Given the description of an element on the screen output the (x, y) to click on. 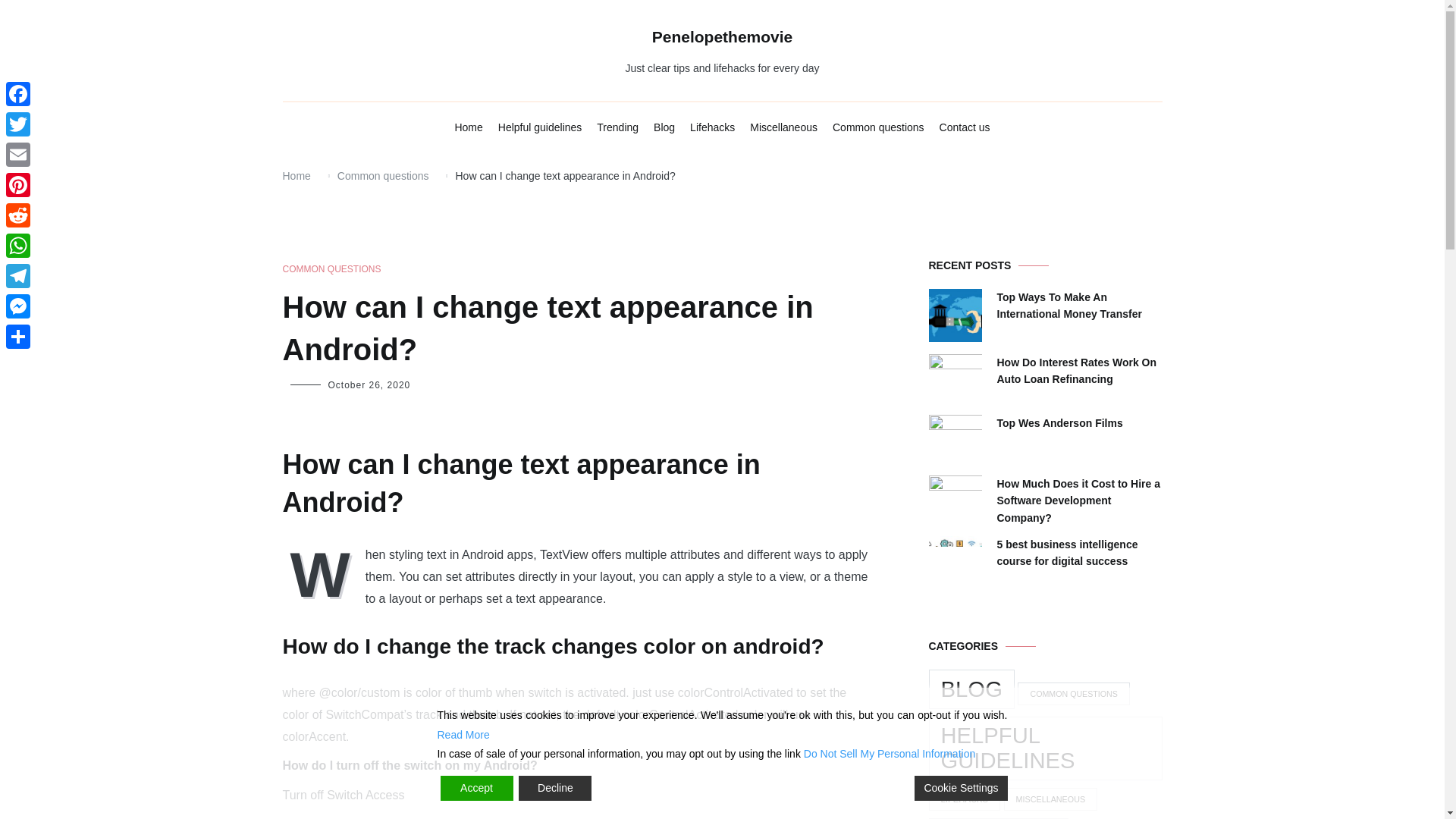
Lifehacks (712, 127)
Facebook (17, 93)
Penelopethemovie (722, 36)
Reddit (17, 214)
Miscellaneous (782, 127)
Trending (617, 127)
Helpful guidelines (539, 127)
HELPFUL GUIDELINES (1044, 748)
WhatsApp (17, 245)
Common questions (878, 127)
